Given the description of an element on the screen output the (x, y) to click on. 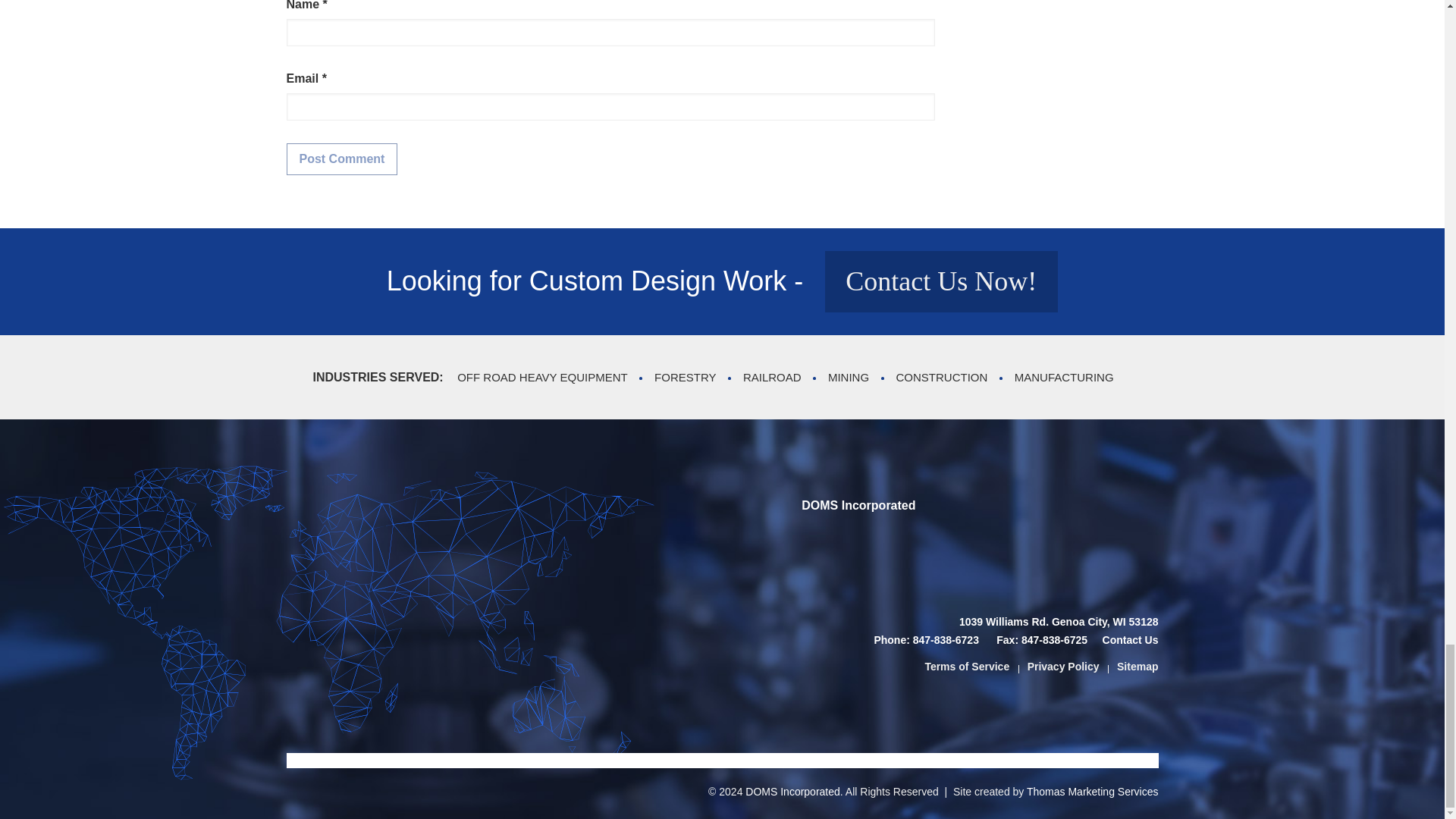
Linkedin (1044, 554)
Post Comment (341, 159)
